Given the description of an element on the screen output the (x, y) to click on. 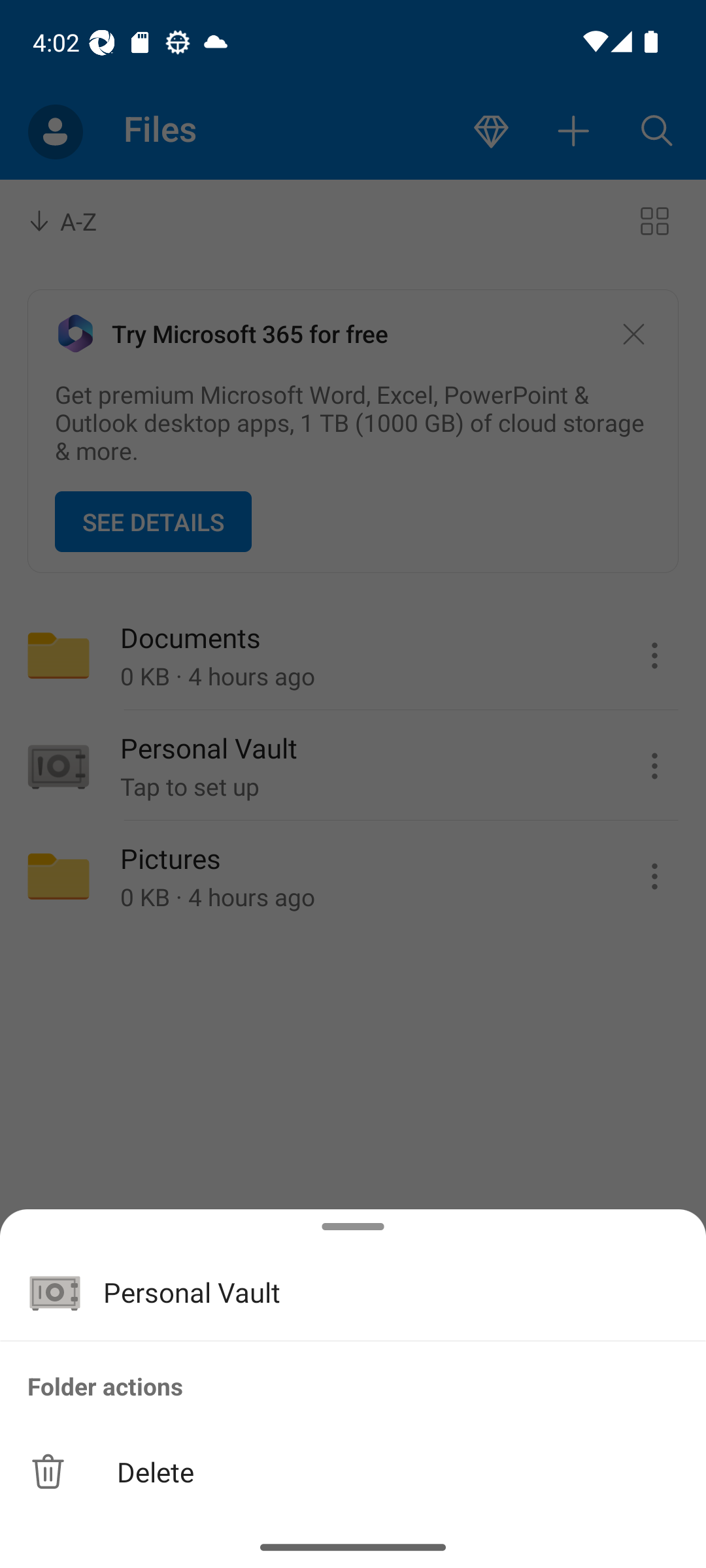
Delete button Delete (353, 1471)
